Given the description of an element on the screen output the (x, y) to click on. 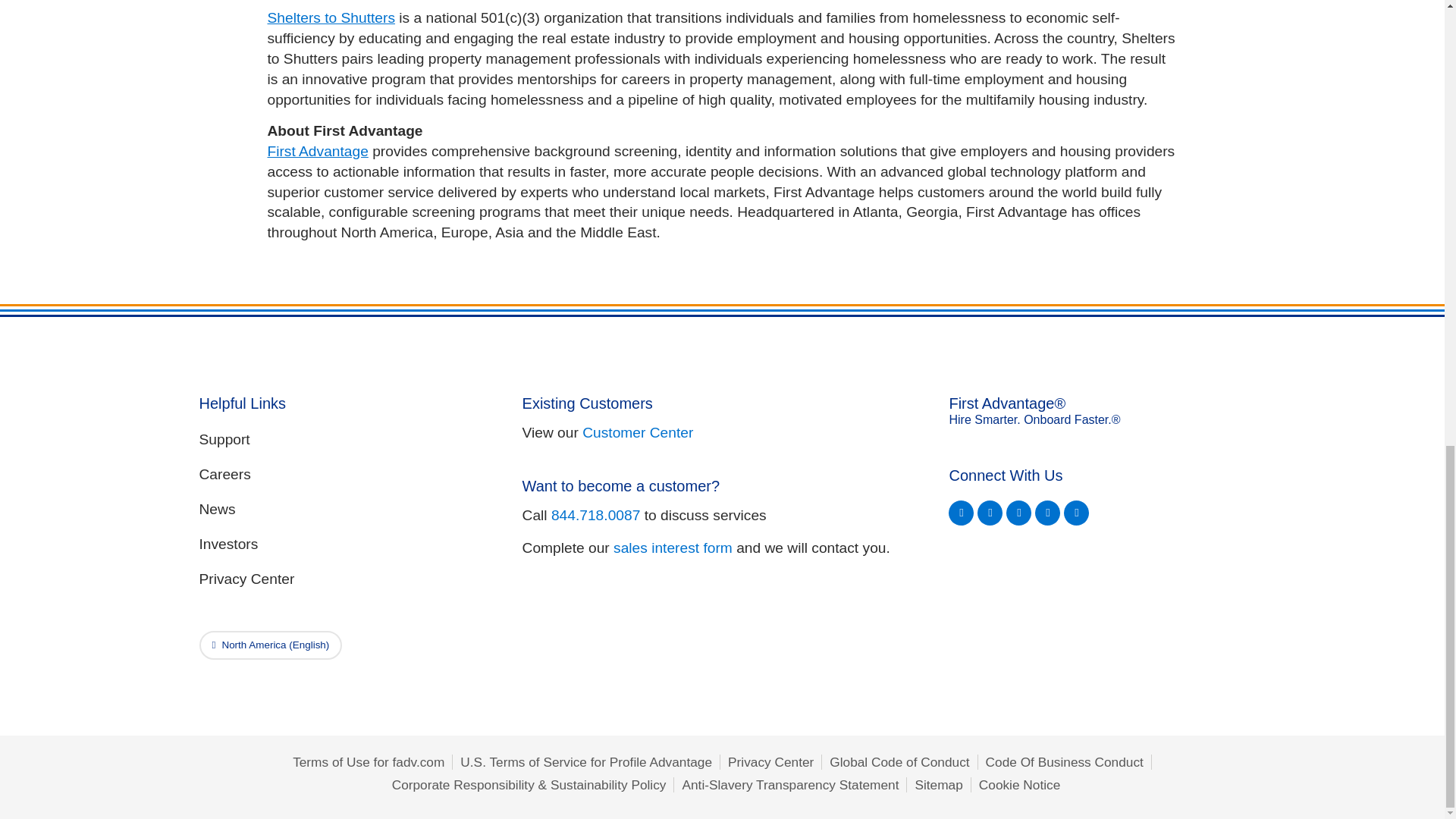
Support (346, 439)
Shelters to Shutters (330, 17)
Investors (346, 544)
Careers (346, 474)
First Advantage (317, 150)
Privacy Center (346, 579)
News (346, 509)
